Given the description of an element on the screen output the (x, y) to click on. 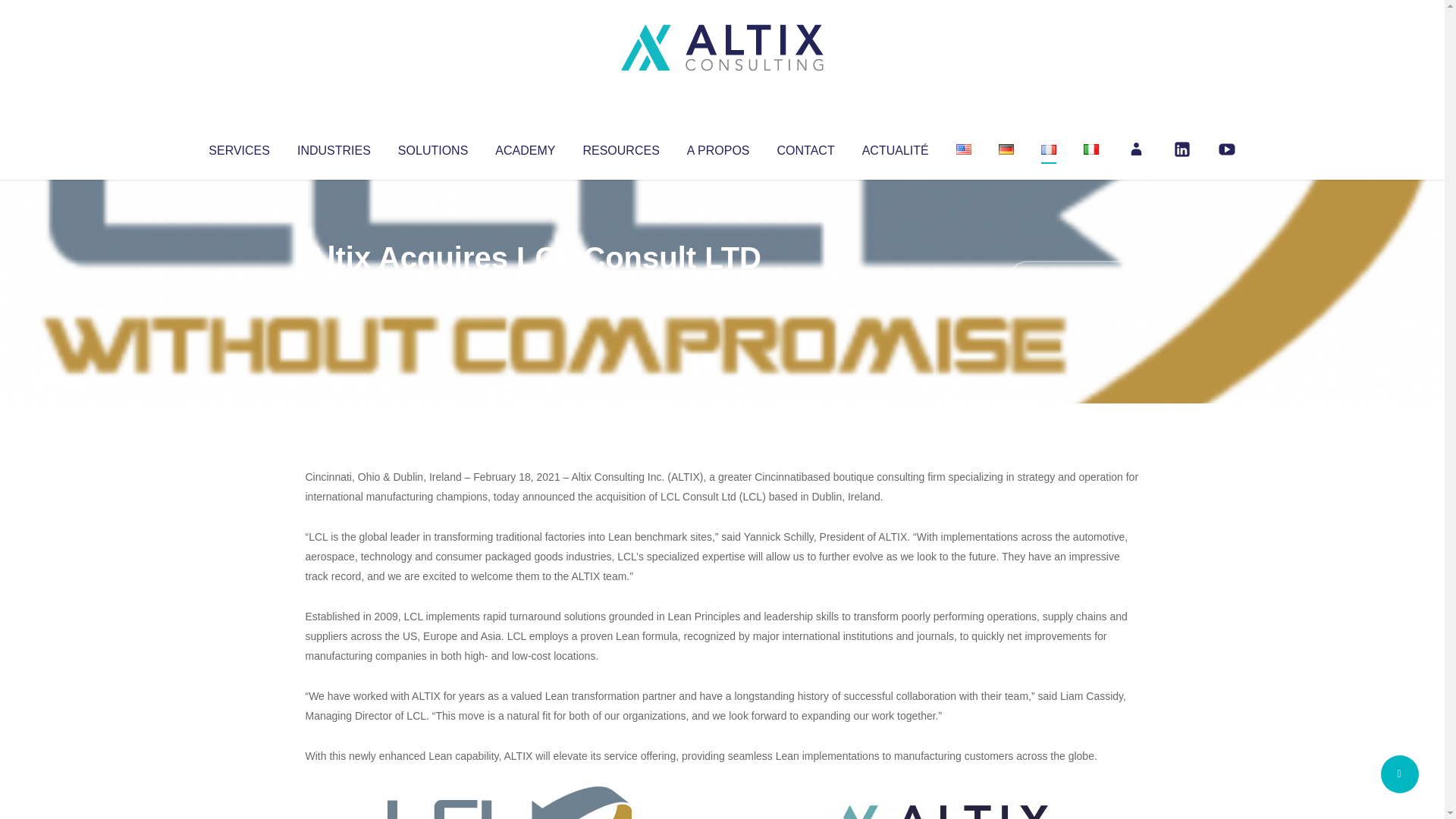
SERVICES (238, 146)
SOLUTIONS (432, 146)
ACADEMY (524, 146)
Altix (333, 287)
Articles par Altix (333, 287)
Uncategorized (530, 287)
RESOURCES (620, 146)
INDUSTRIES (334, 146)
No Comments (1073, 278)
A PROPOS (718, 146)
